Given the description of an element on the screen output the (x, y) to click on. 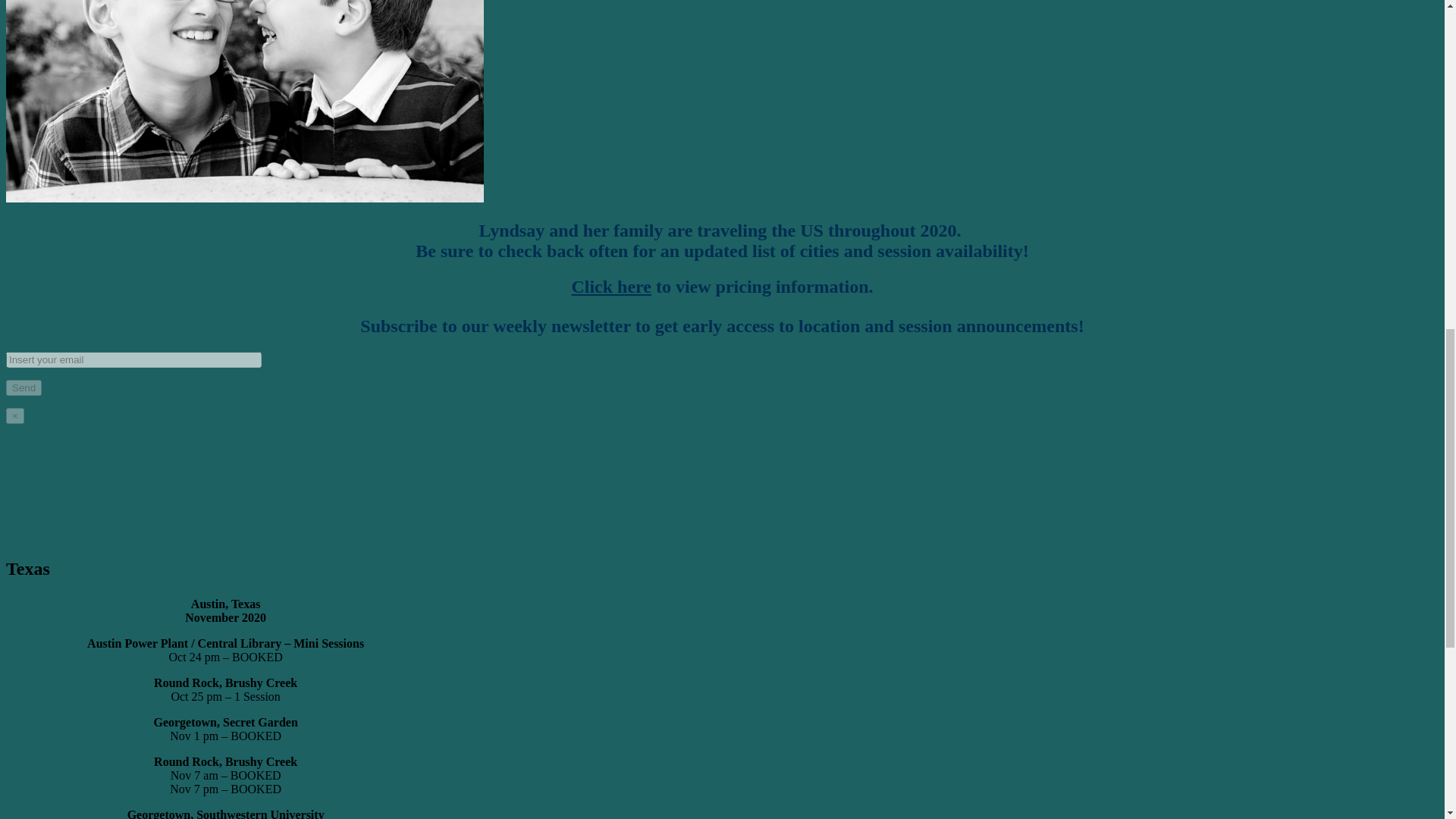
brothers (244, 101)
Send (23, 387)
Click here (610, 286)
Send (23, 387)
